Given the description of an element on the screen output the (x, y) to click on. 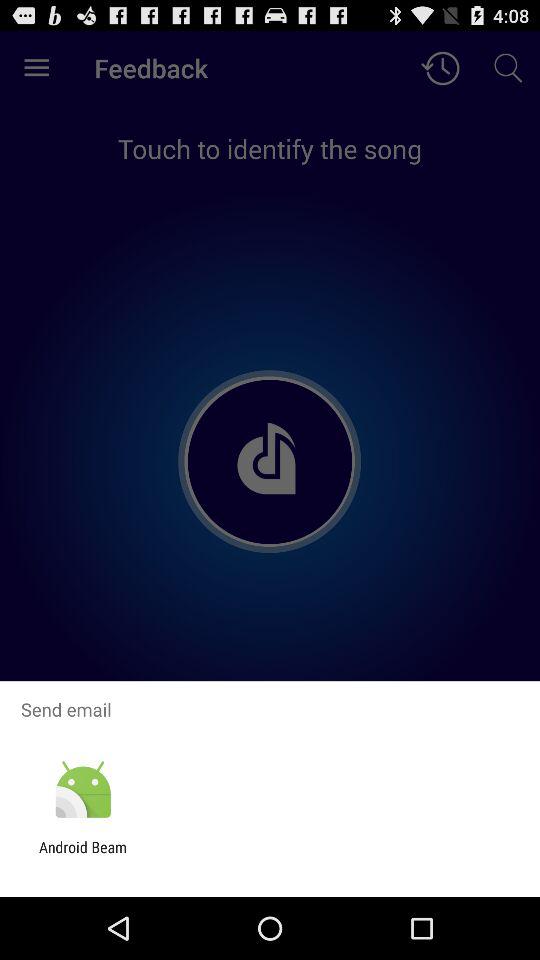
swipe until the android beam item (83, 856)
